Given the description of an element on the screen output the (x, y) to click on. 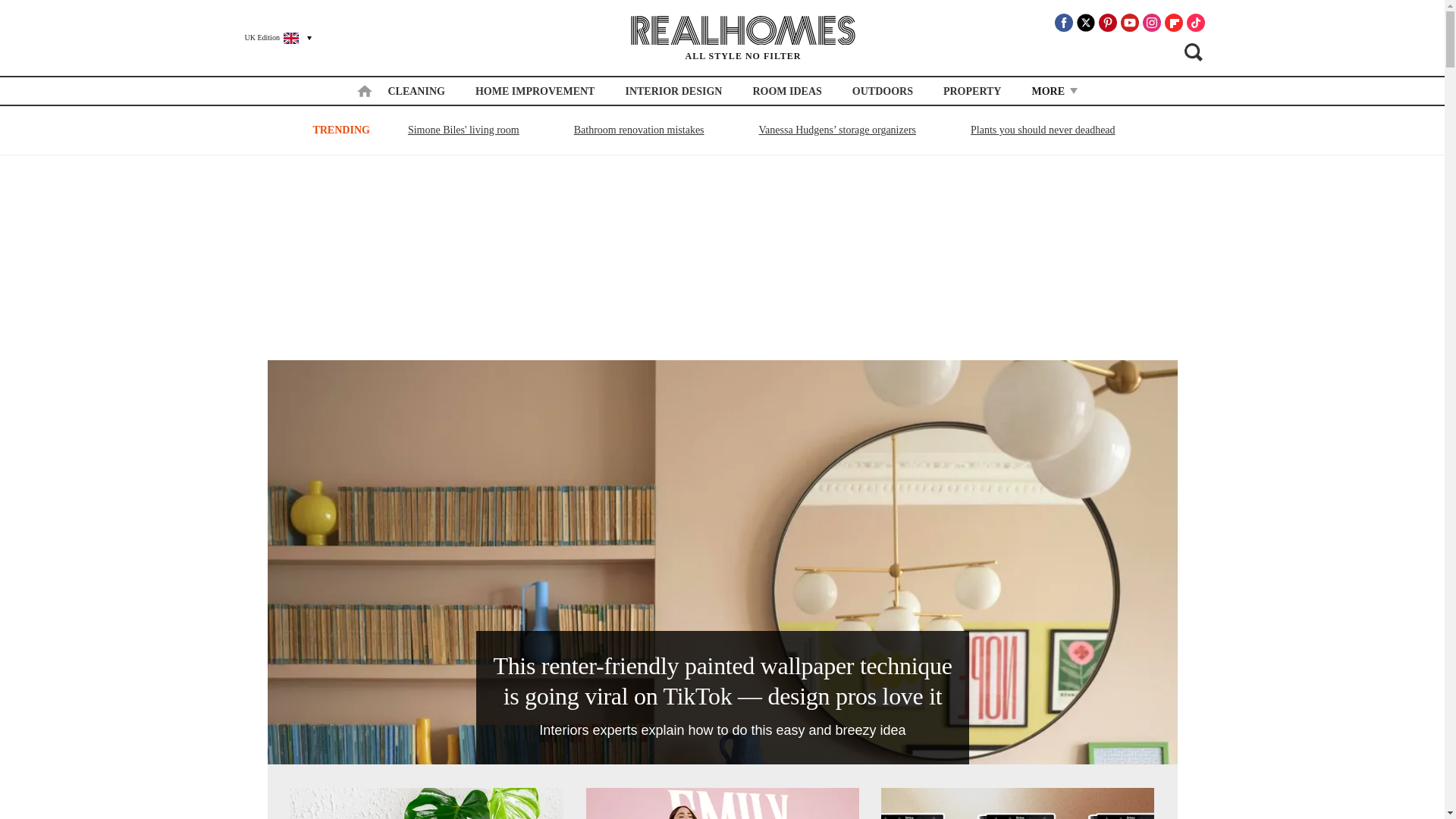
Plants you should never deadhead (1043, 129)
ALL STYLE NO FILTER (742, 38)
OUTDOORS (881, 90)
CLEANING (415, 90)
Bathroom renovation mistakes (639, 129)
UK Edition (271, 37)
HOME IMPROVEMENT (535, 90)
Simone Biles' living room (463, 129)
ROOM IDEAS (786, 90)
INTERIOR DESIGN (673, 90)
